Given the description of an element on the screen output the (x, y) to click on. 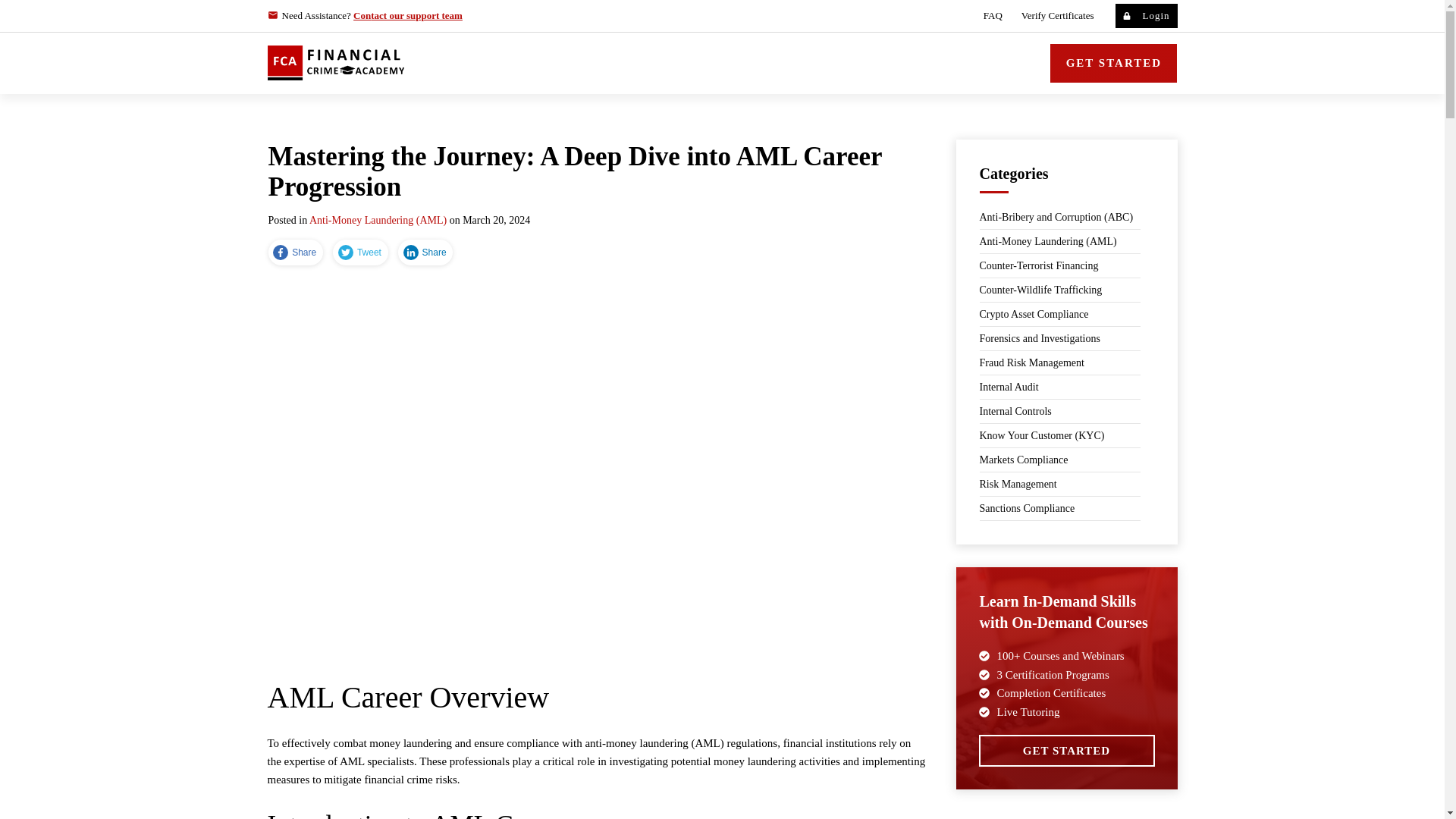
Contact our support team (408, 15)
FAQ (993, 15)
Verify Certificates (1058, 15)
Login (1145, 15)
